Given the description of an element on the screen output the (x, y) to click on. 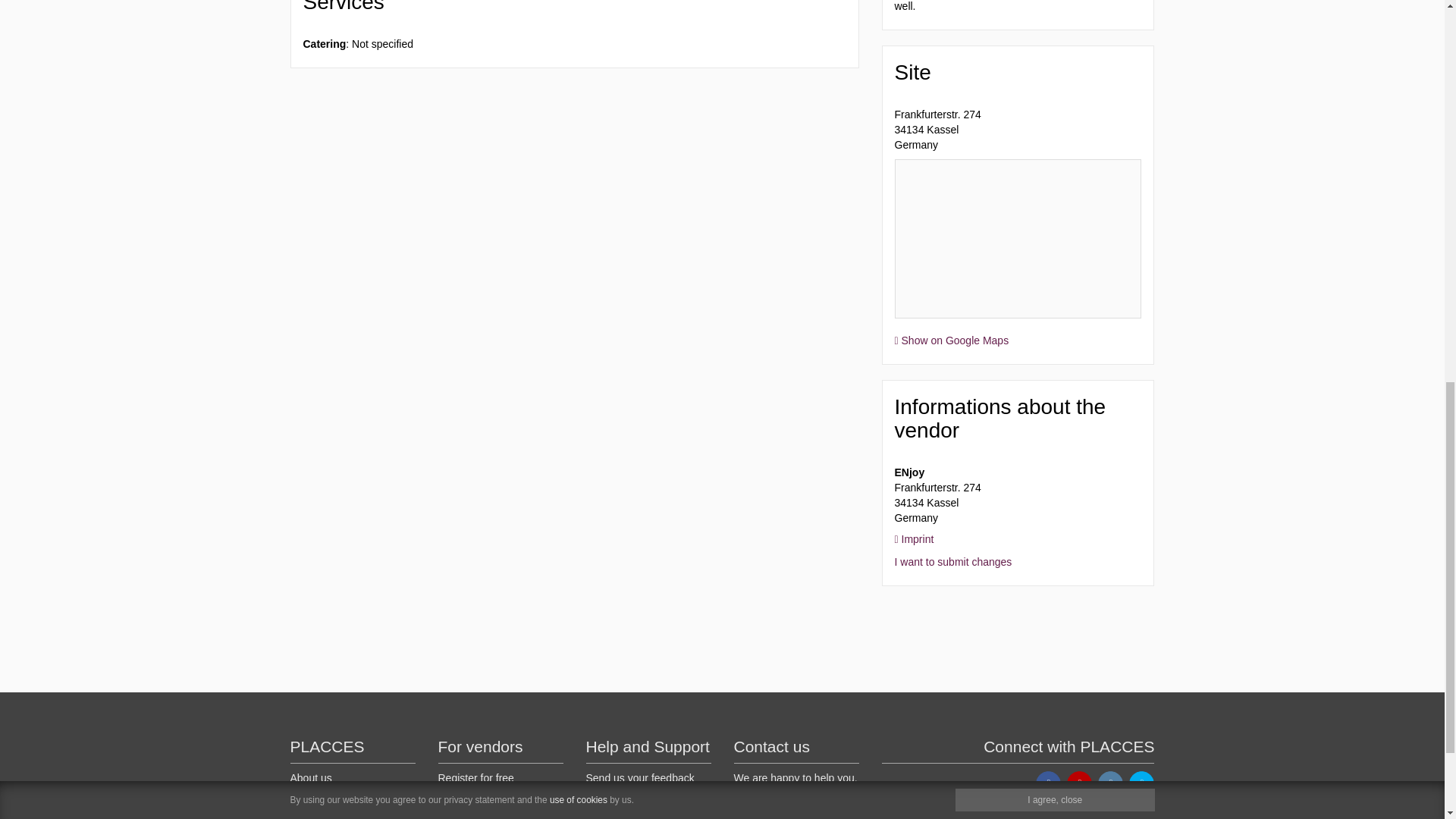
Visit PLACCES on Twitter (1141, 783)
Visit PLACCES on Facebook (1048, 783)
Visit PLACCES on Instagram (1109, 783)
I want to submit changes (953, 562)
Imprint (914, 539)
Visit PLACCES on Youtube (1079, 783)
Send an e-mail to PLACCES (745, 814)
Show on Google Maps (952, 340)
About us (310, 777)
